Given the description of an element on the screen output the (x, y) to click on. 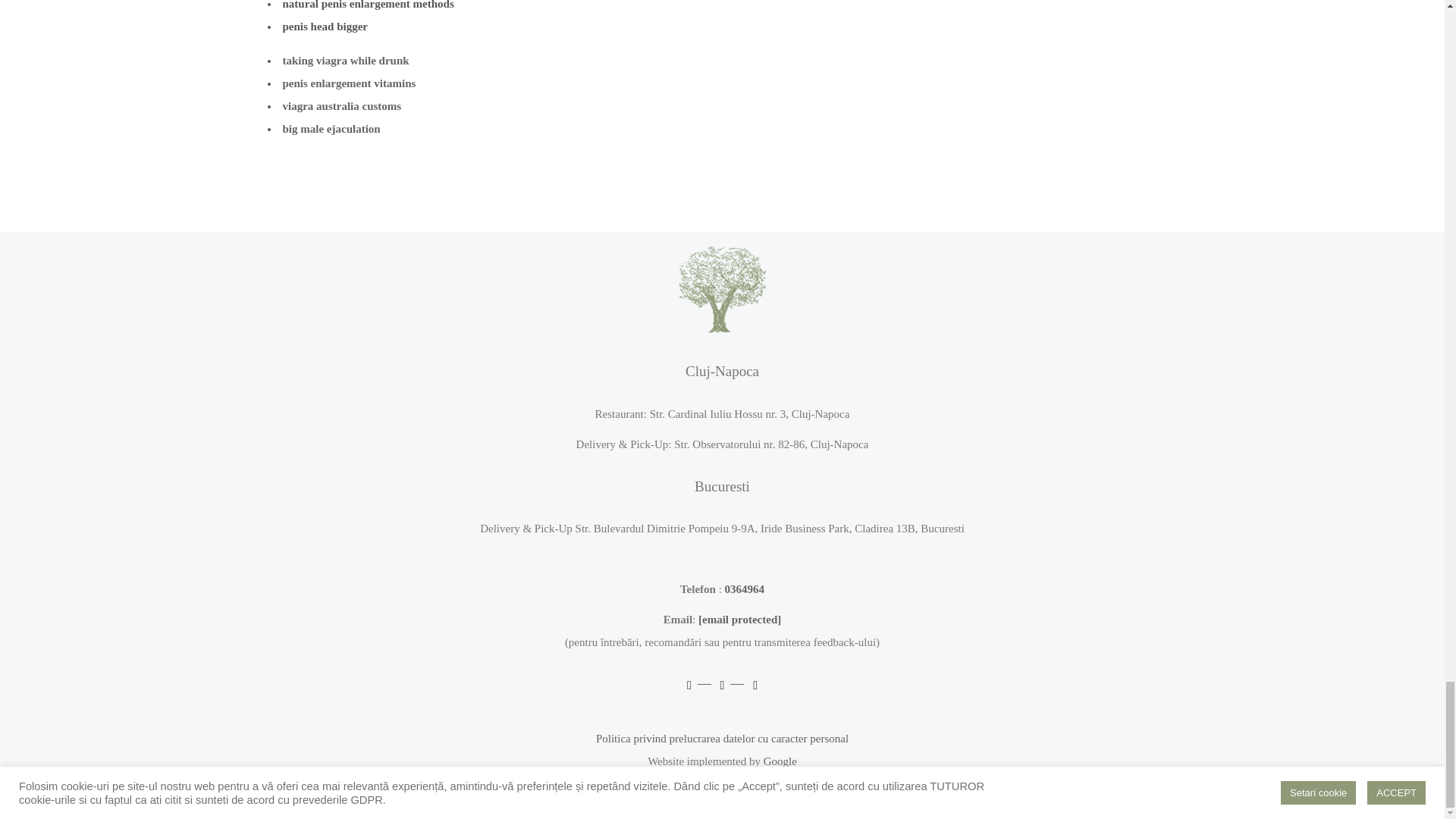
taking viagra while drunk (345, 60)
Politica privind prelucrarea datelor cu caracter personal (721, 738)
penis enlargement vitamins (348, 82)
viagra australia customs (341, 105)
0364964 (745, 589)
big male ejaculation (331, 128)
